Given the description of an element on the screen output the (x, y) to click on. 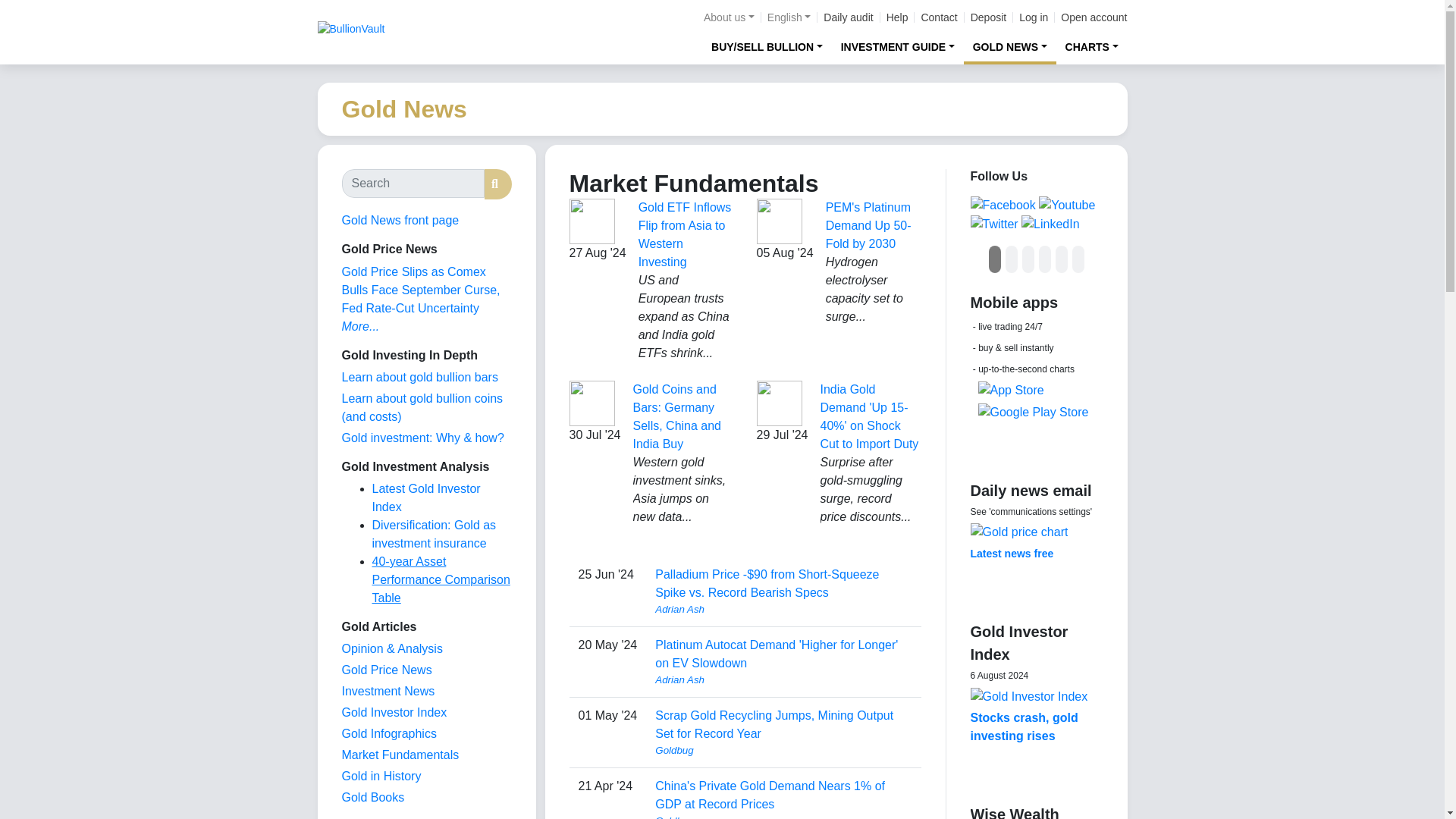
Enter the terms you wish to search for. (411, 183)
Gold Price News (385, 669)
Deposit (988, 17)
Gold Infographics (387, 733)
Daily audit (848, 17)
Books about Gold Reviewed (372, 797)
Gold in History (380, 775)
View user profile. (783, 609)
Open account (1093, 17)
Market Fundamentals (399, 754)
